Given the description of an element on the screen output the (x, y) to click on. 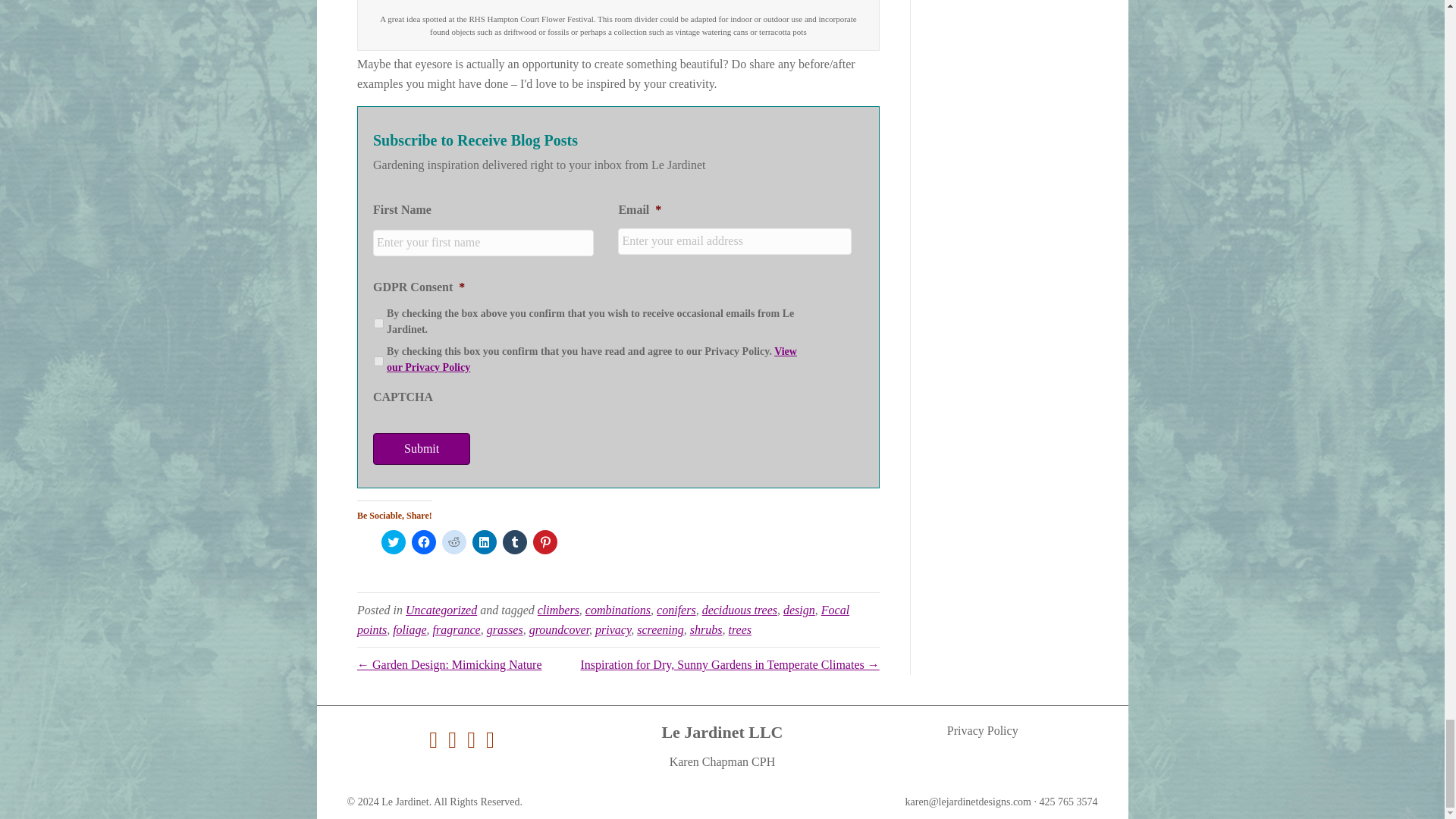
Click to share on Pinterest (544, 541)
Submit (421, 448)
Click to share on Facebook (423, 541)
Click to share on Twitter (393, 541)
Click to share on Tumblr (514, 541)
Click to share on LinkedIn (483, 541)
Click to share on Reddit (453, 541)
